Given the description of an element on the screen output the (x, y) to click on. 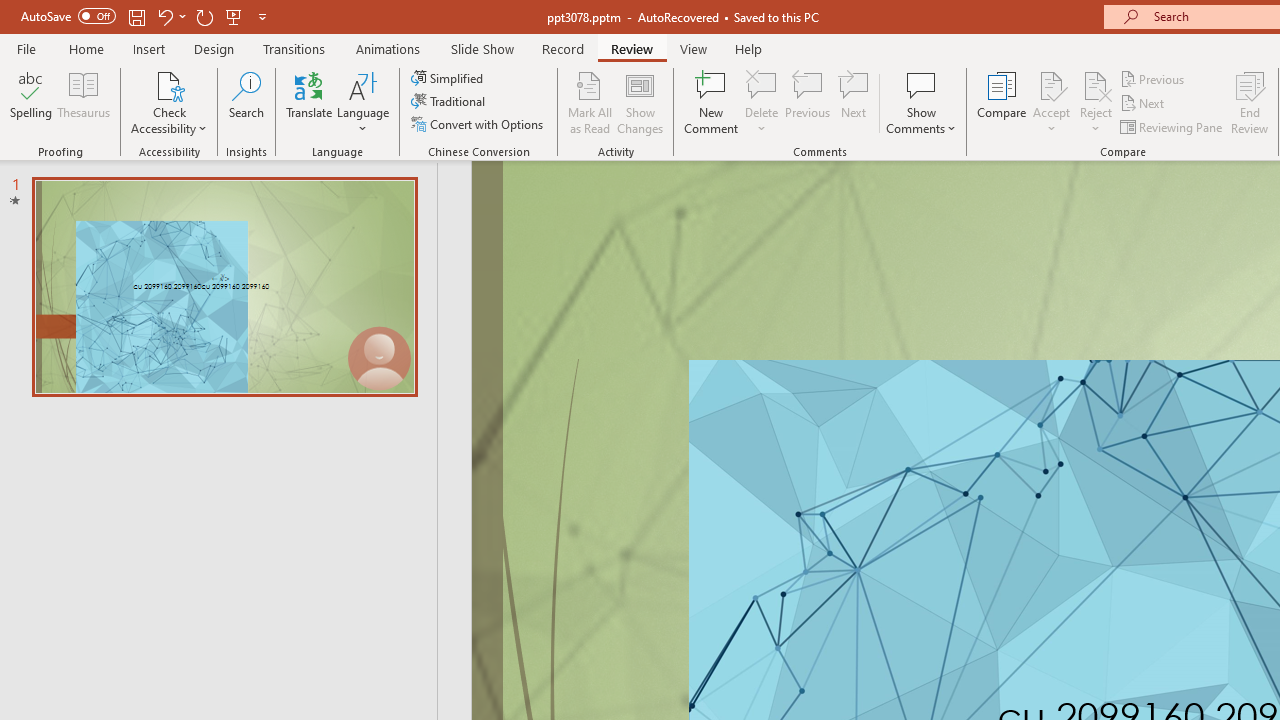
Search (246, 102)
Reviewing Pane (1172, 126)
Next (1144, 103)
Language (363, 102)
Check Accessibility (169, 102)
Show Comments (921, 84)
Reject (1096, 102)
